Given the description of an element on the screen output the (x, y) to click on. 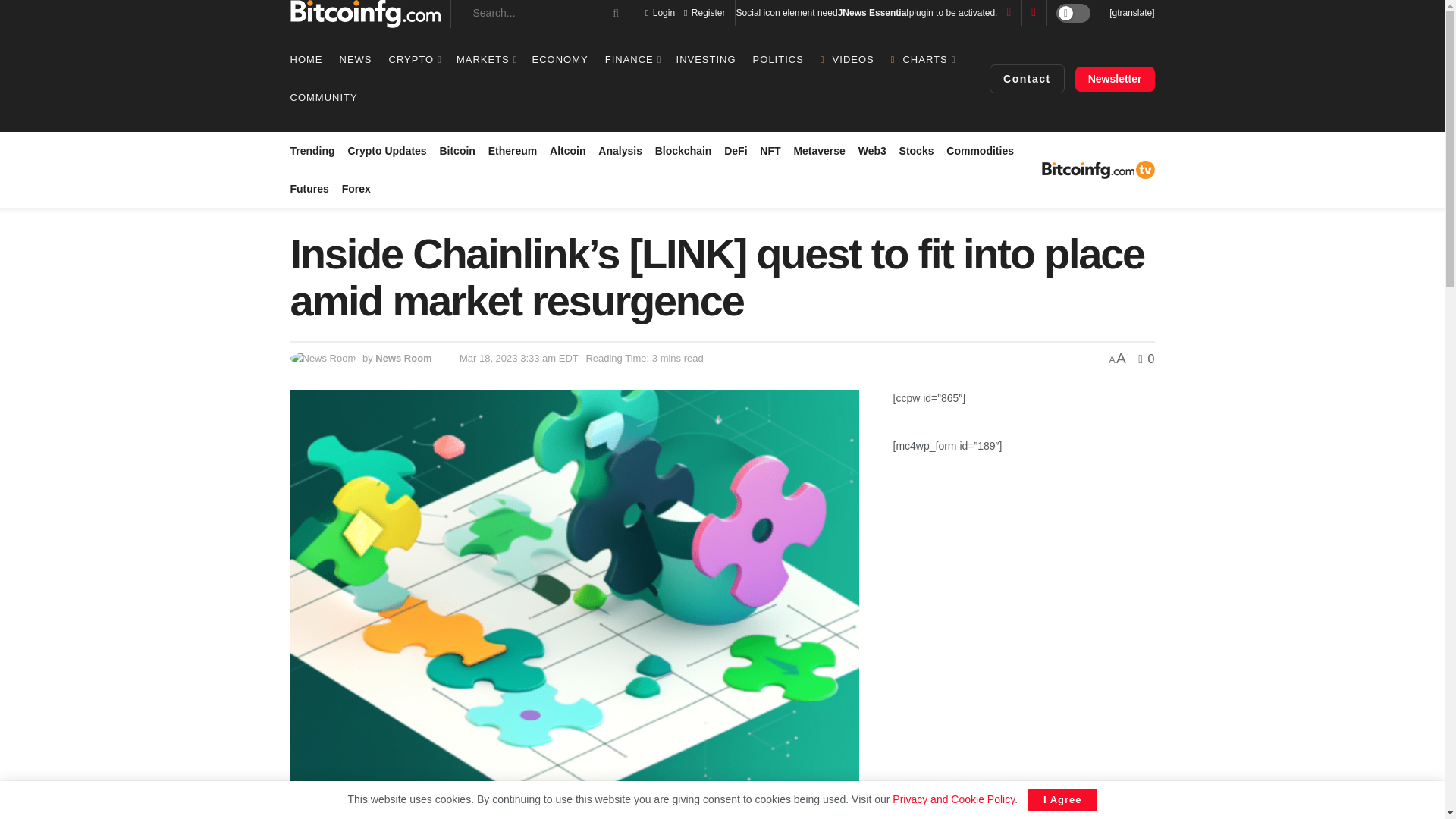
MARKETS (486, 59)
CRYPTO (413, 59)
Register (704, 12)
Login (660, 12)
